Given the description of an element on the screen output the (x, y) to click on. 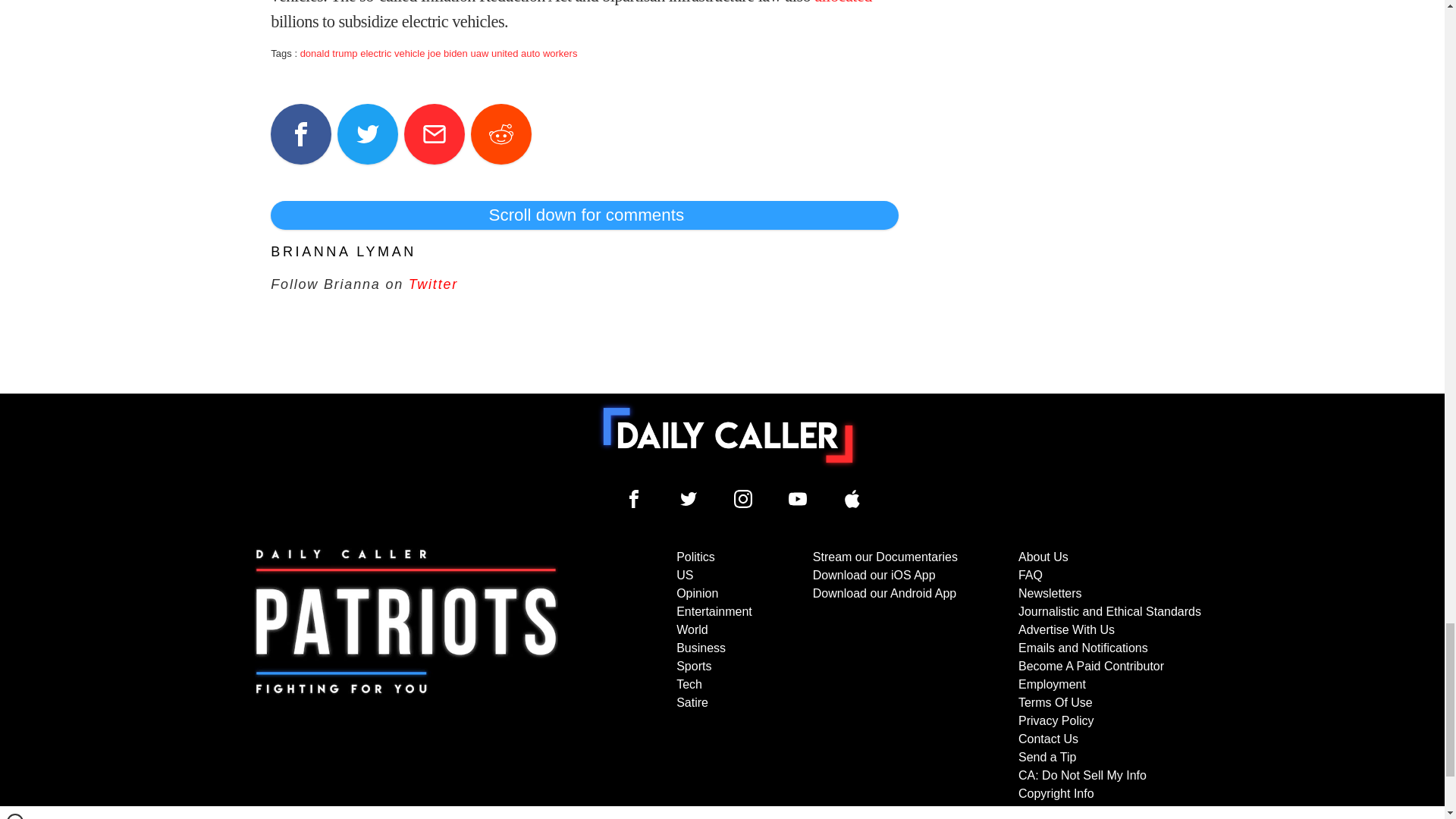
Subscribe to The Daily Caller (405, 675)
Daily Caller Twitter (688, 498)
Daily Caller YouTube (852, 498)
To home page (727, 434)
Daily Caller YouTube (797, 498)
Scroll down for comments (584, 215)
Daily Caller Facebook (633, 498)
Daily Caller Instagram (742, 498)
